Given the description of an element on the screen output the (x, y) to click on. 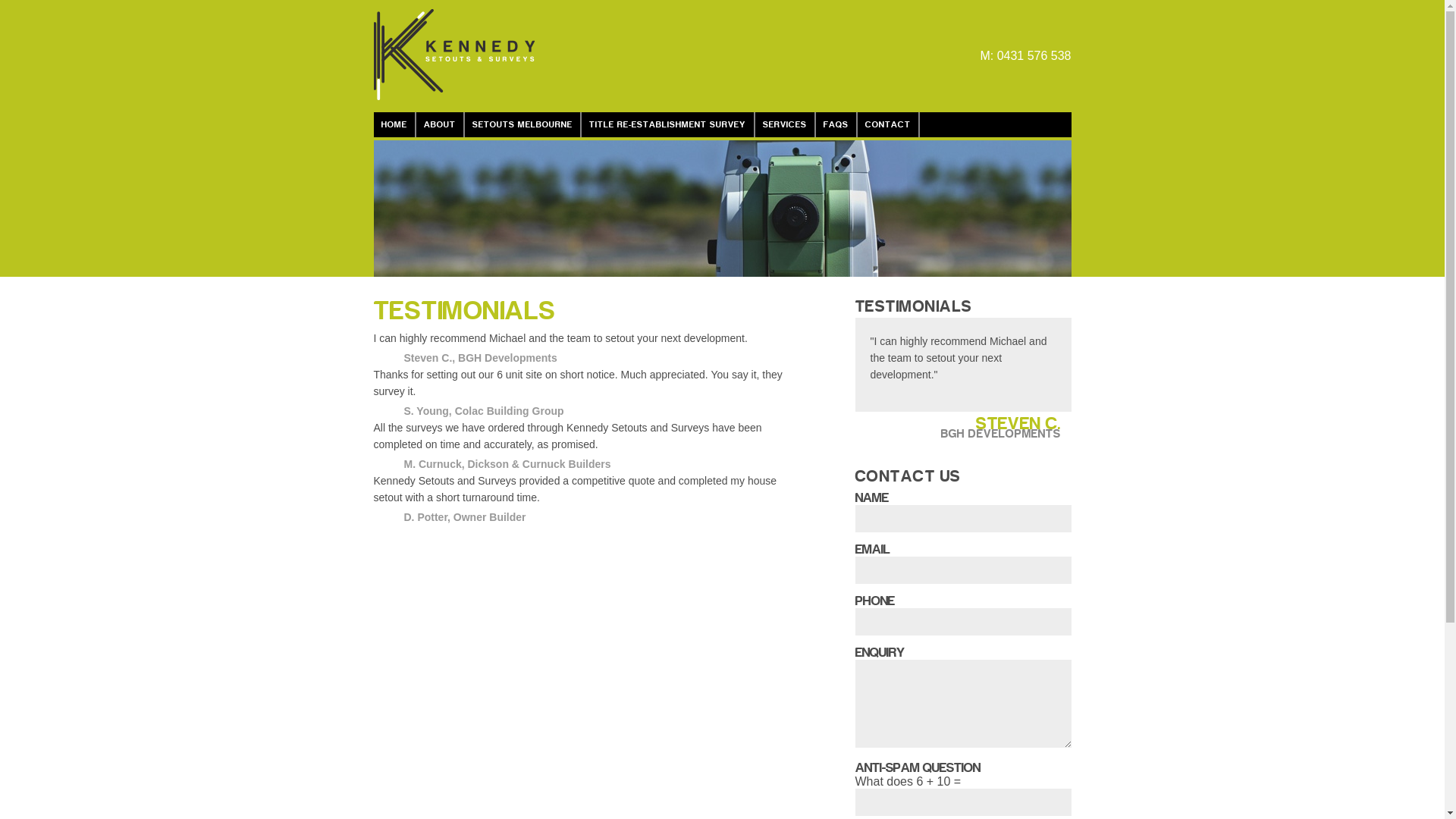
SERVICES Element type: text (785, 124)
Submit Element type: text (348, 13)
ABOUT Element type: text (439, 124)
SETOUTS MELBOURNE Element type: text (522, 124)
TITLE RE-ESTABLISHMENT SURVEY Element type: text (667, 124)
FAQS Element type: text (836, 124)
CONTACT Element type: text (887, 124)
HOME Element type: text (394, 124)
